Given the description of an element on the screen output the (x, y) to click on. 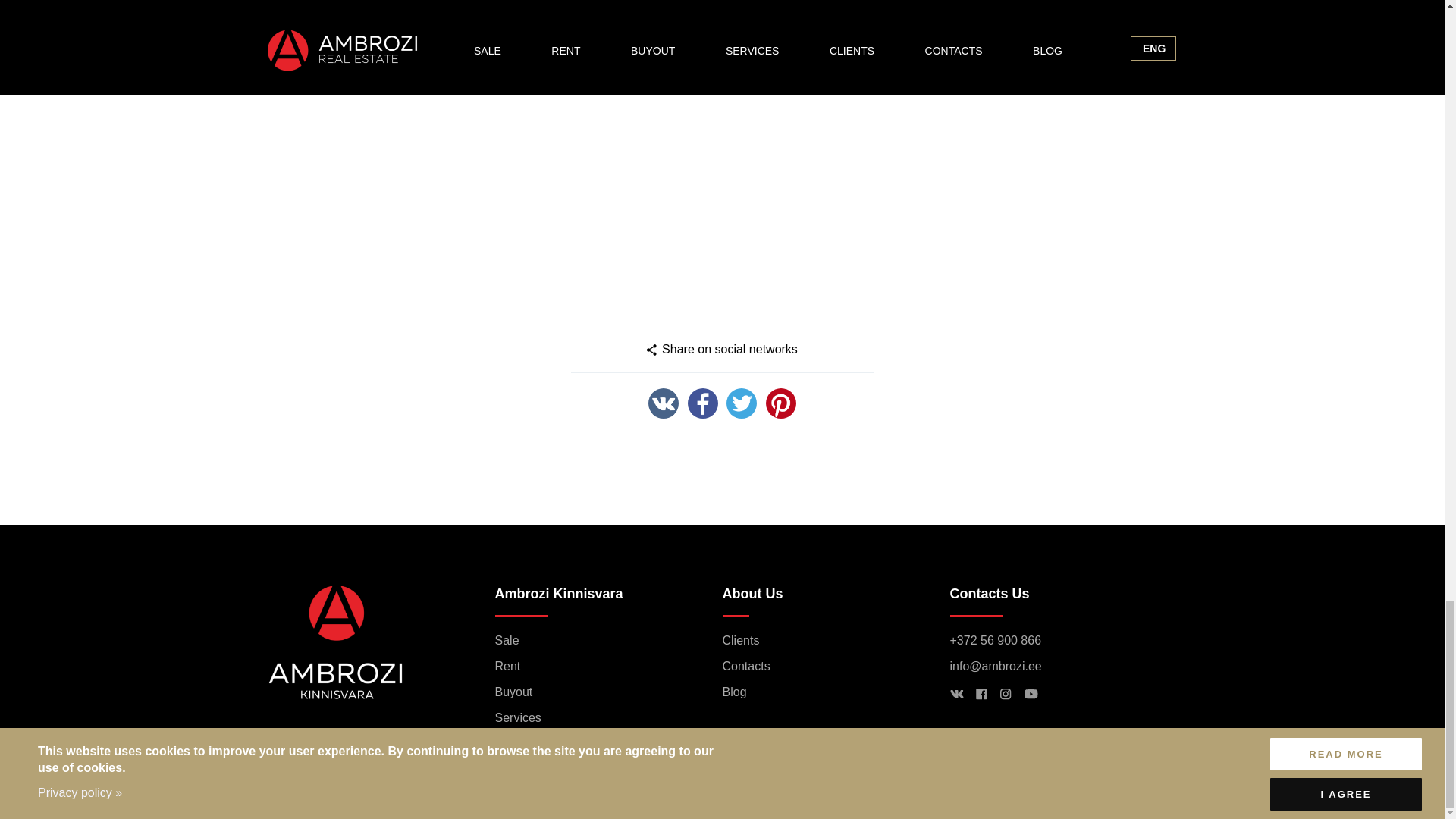
Share on Twitter (741, 403)
Services (517, 717)
Blog (733, 691)
Sale (506, 640)
Buyout (513, 691)
